Given the description of an element on the screen output the (x, y) to click on. 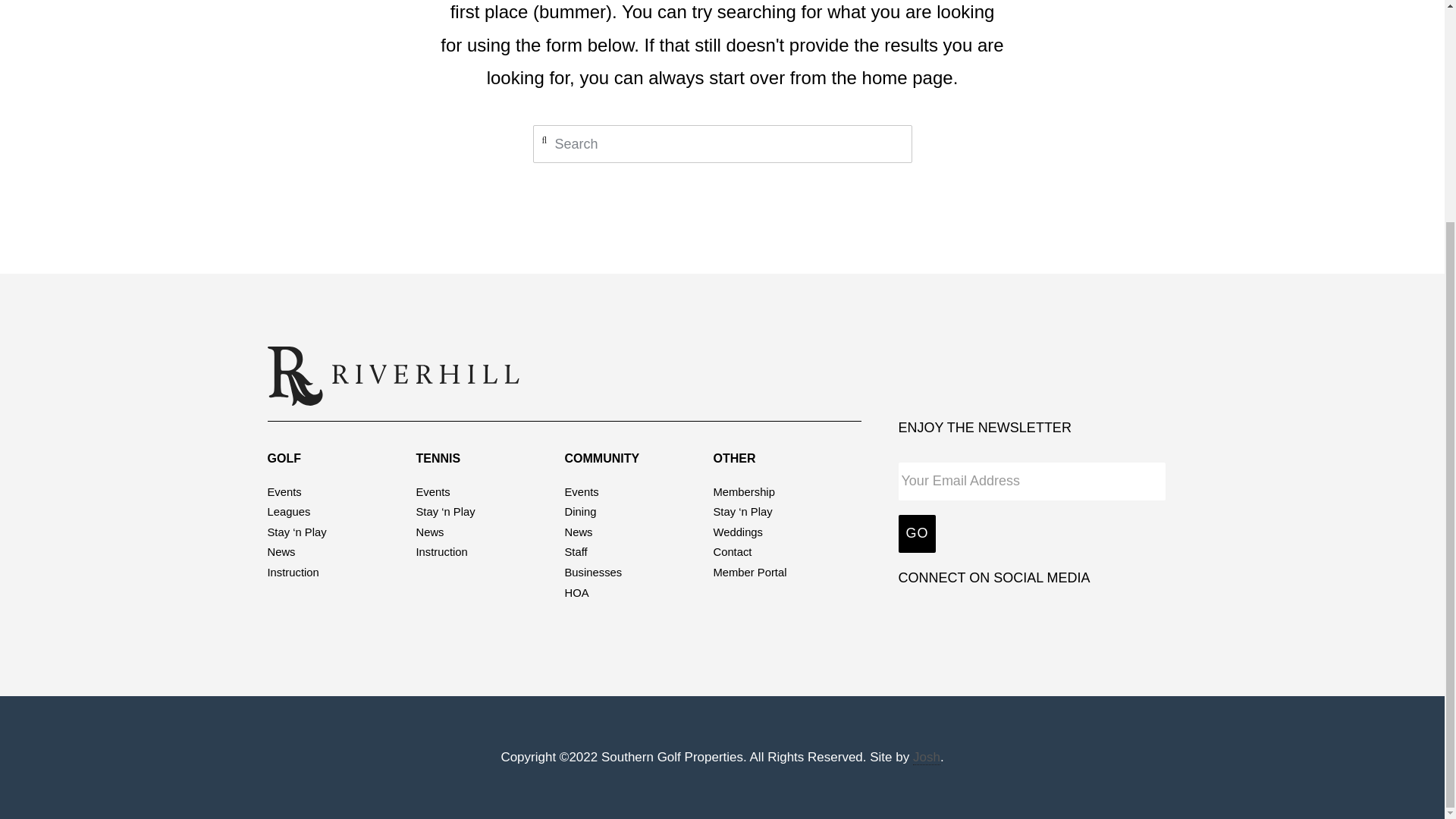
GO (917, 533)
